Given the description of an element on the screen output the (x, y) to click on. 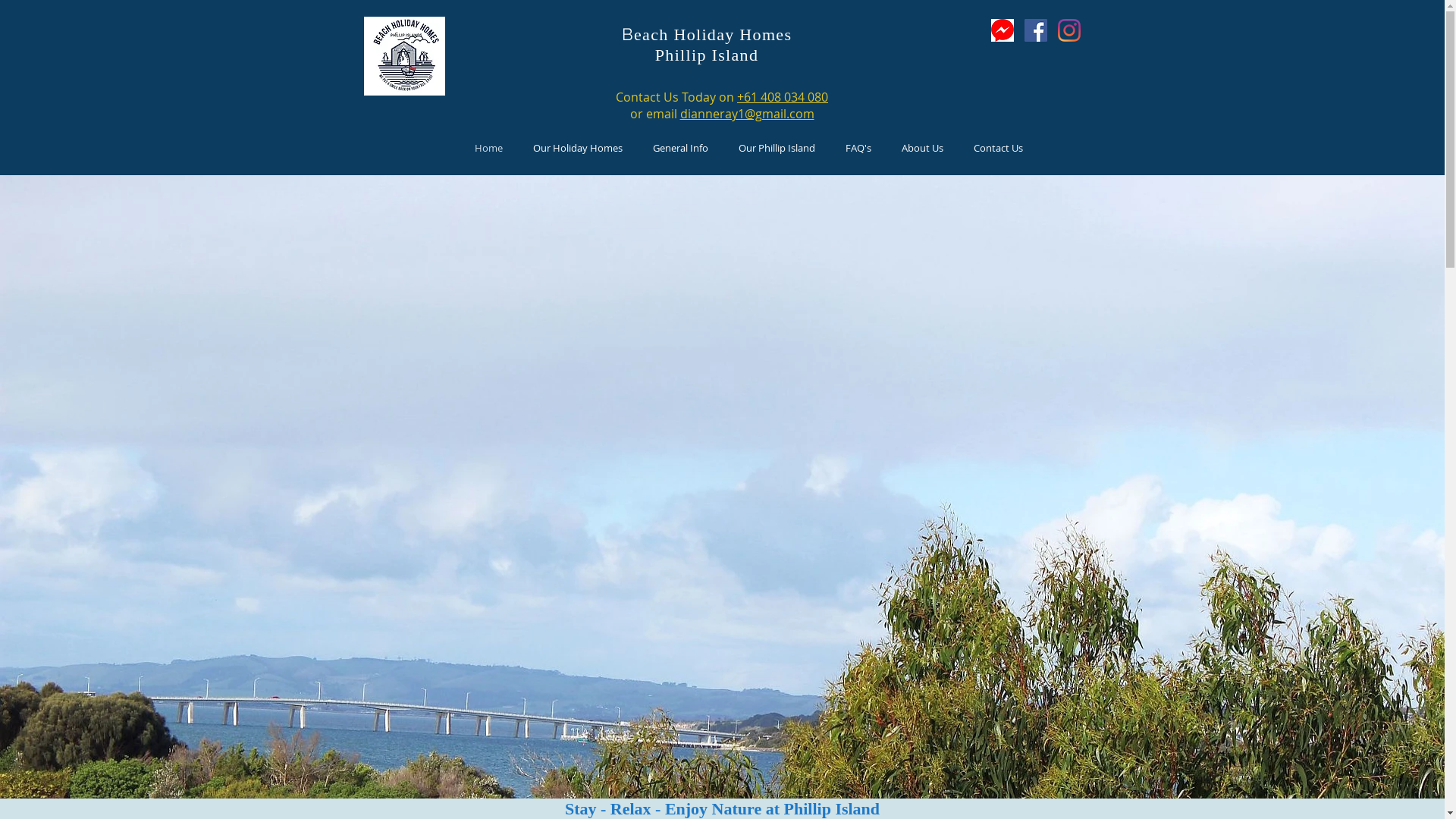
Home Element type: text (488, 147)
Our Holiday Homes Element type: text (577, 147)
Our Phillip Island Element type: text (776, 147)
About Us Element type: text (921, 147)
+61 408 034 080 Element type: text (782, 96)
General Info Element type: text (679, 147)
Contact Us Element type: text (998, 147)
dianneray1@gmail.com Element type: text (746, 113)
FAQ's Element type: text (857, 147)
Beach Holiday Homes Element type: text (706, 33)
